Given the description of an element on the screen output the (x, y) to click on. 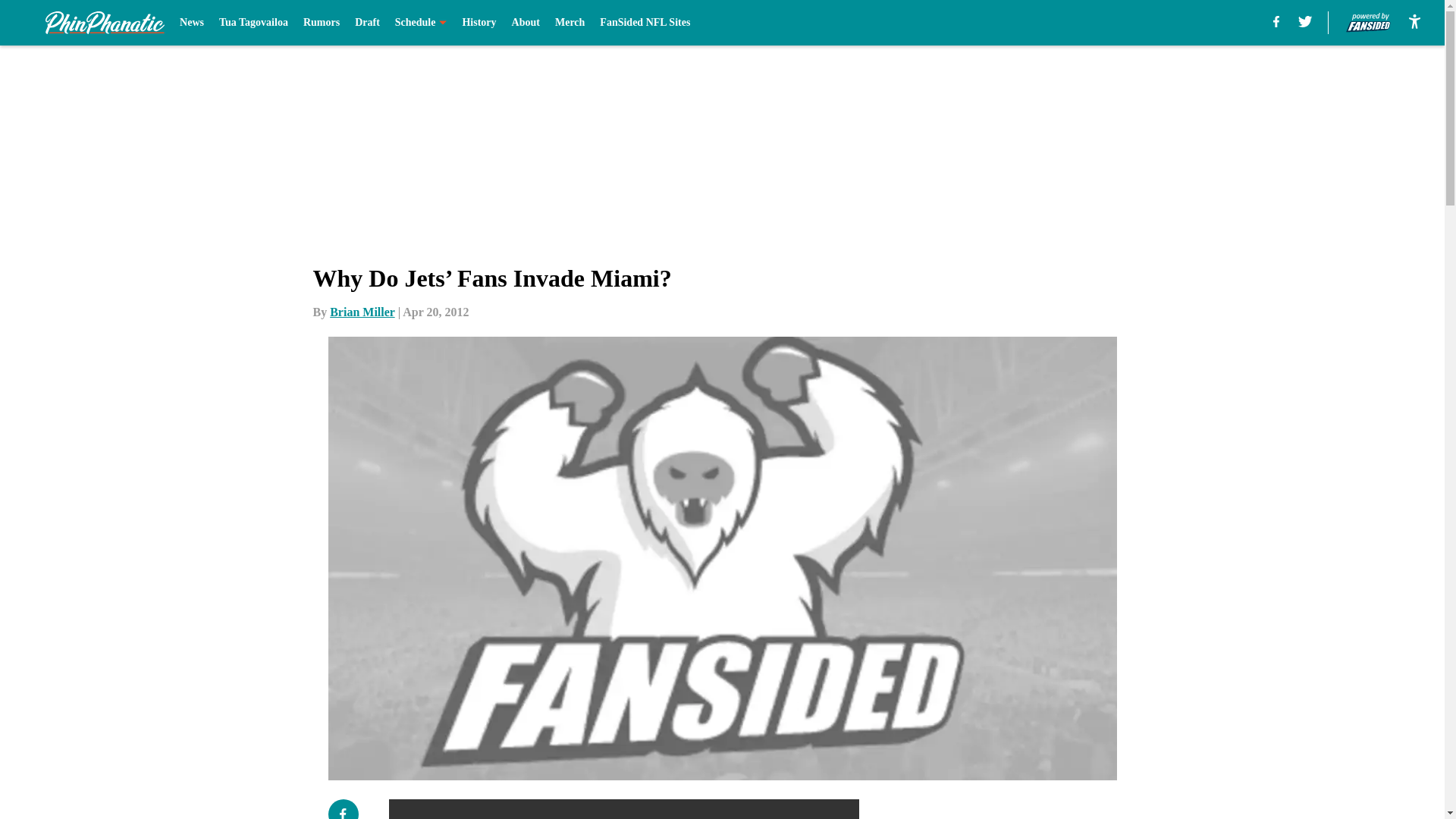
Brian Miller (362, 311)
History (478, 22)
Rumors (320, 22)
News (191, 22)
3rd party ad content (1047, 809)
FanSided NFL Sites (644, 22)
About (526, 22)
Tua Tagovailoa (253, 22)
Draft (367, 22)
Merch (569, 22)
